Given the description of an element on the screen output the (x, y) to click on. 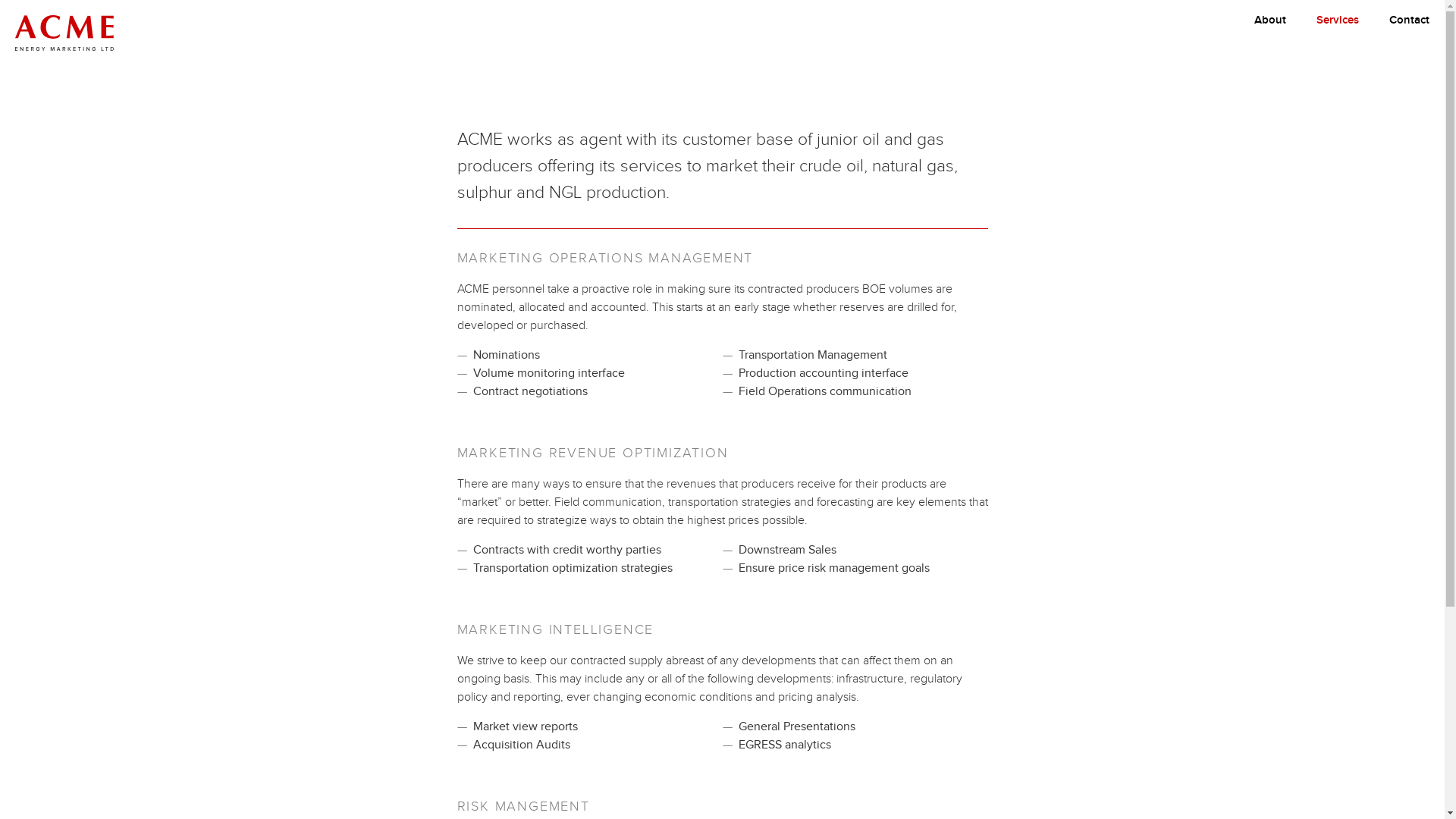
Services Element type: text (1337, 20)
About Element type: text (1270, 20)
Contact Element type: text (1409, 20)
